Given the description of an element on the screen output the (x, y) to click on. 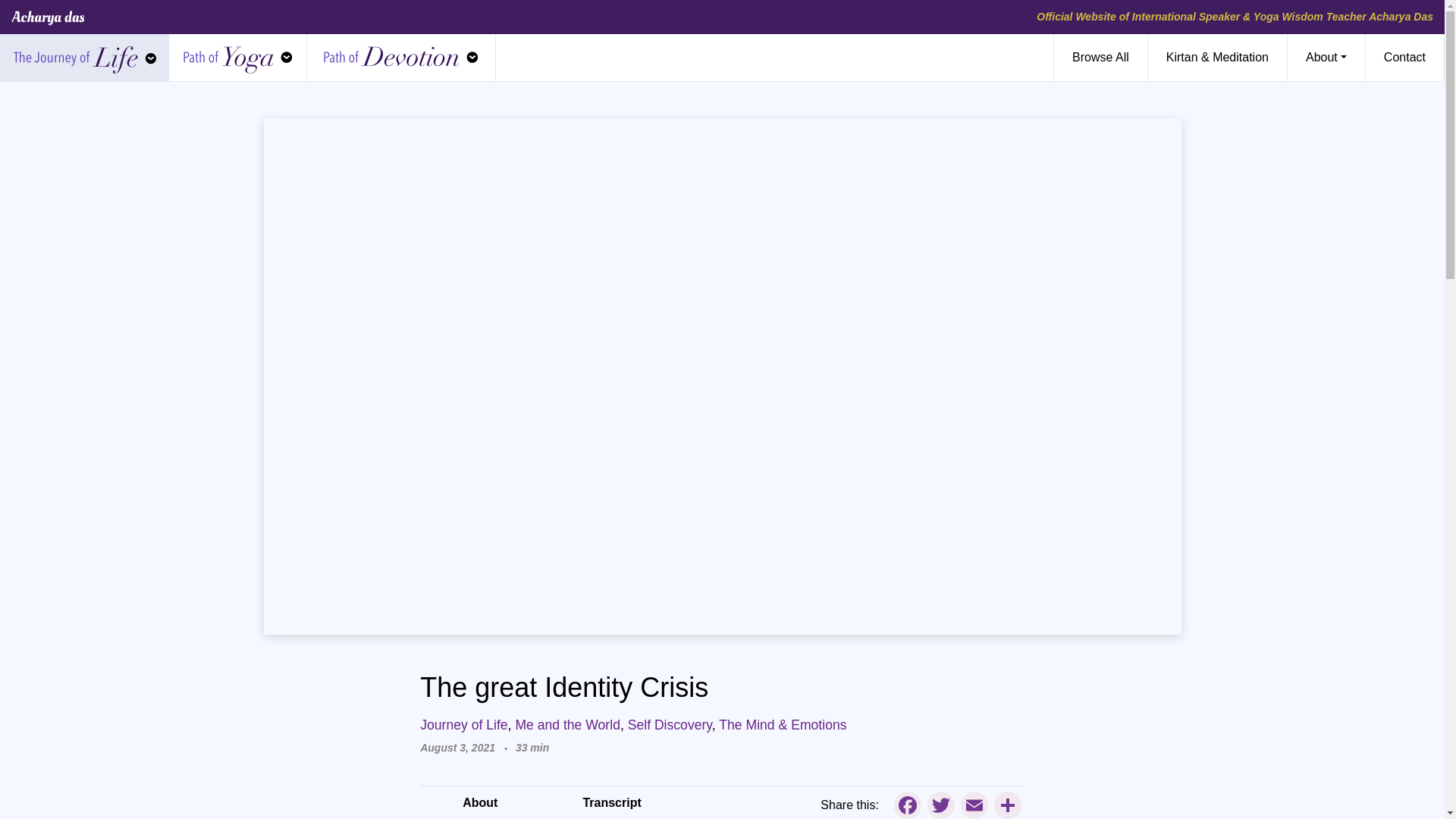
Browse All (1100, 57)
Acharya Das Official Website (47, 18)
Twitter (941, 805)
Self Discovery (669, 724)
Path of Yoga (236, 57)
About (480, 802)
Transcript (611, 802)
Contact (1404, 57)
Journey of Life (84, 57)
Email (974, 805)
Journey of Life (463, 724)
Browse All (1100, 57)
About (1326, 57)
Path of Yoga (236, 57)
